Given the description of an element on the screen output the (x, y) to click on. 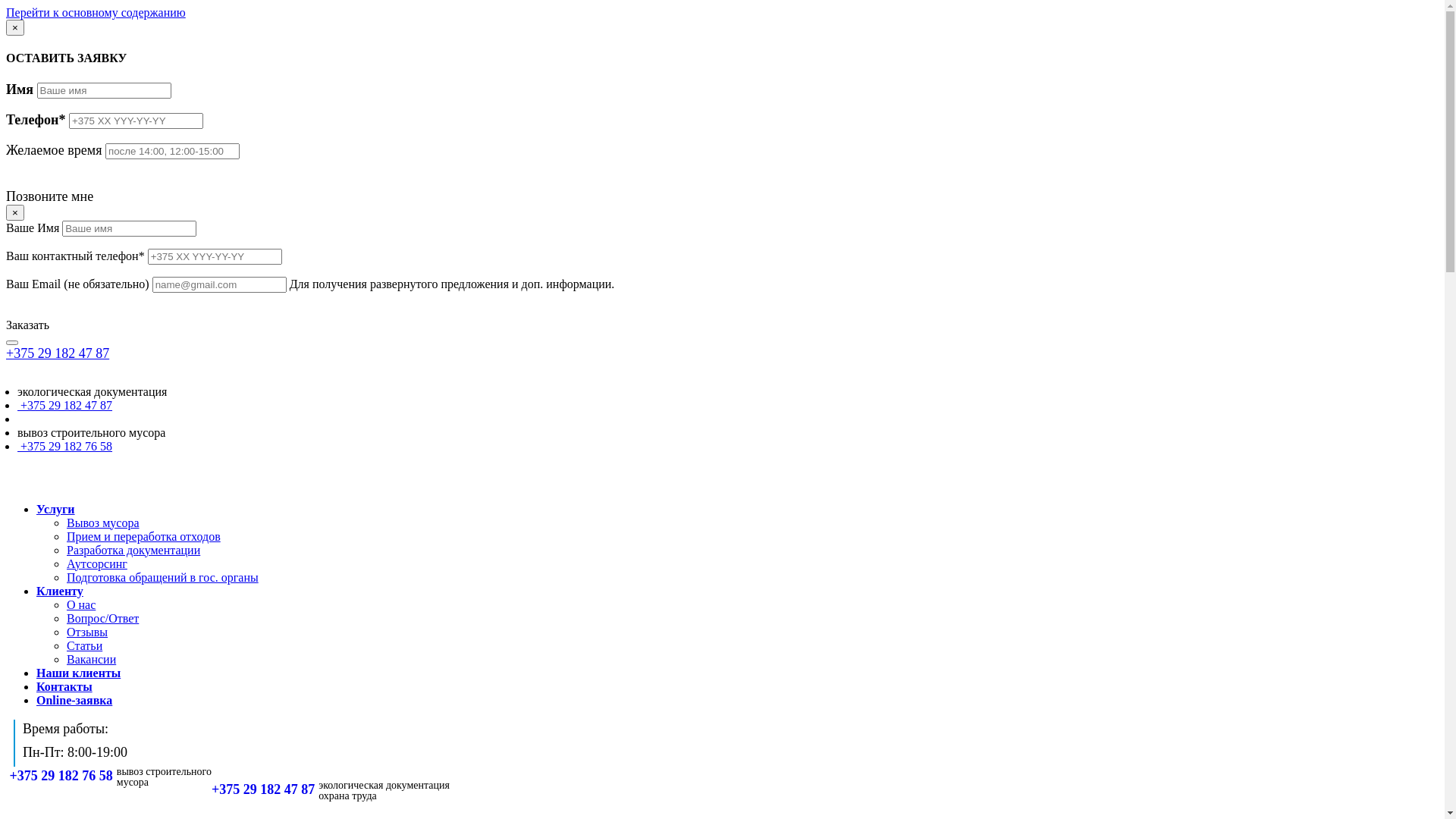
+375 29 182 47 87 Element type: text (64, 404)
+375 29 182 76 58 Element type: text (64, 445)
+375 29 182 76 58 Element type: text (60, 775)
+375 29 182 47 87 Element type: text (57, 352)
+375 29 182 47 87 Element type: text (262, 789)
